Given the description of an element on the screen output the (x, y) to click on. 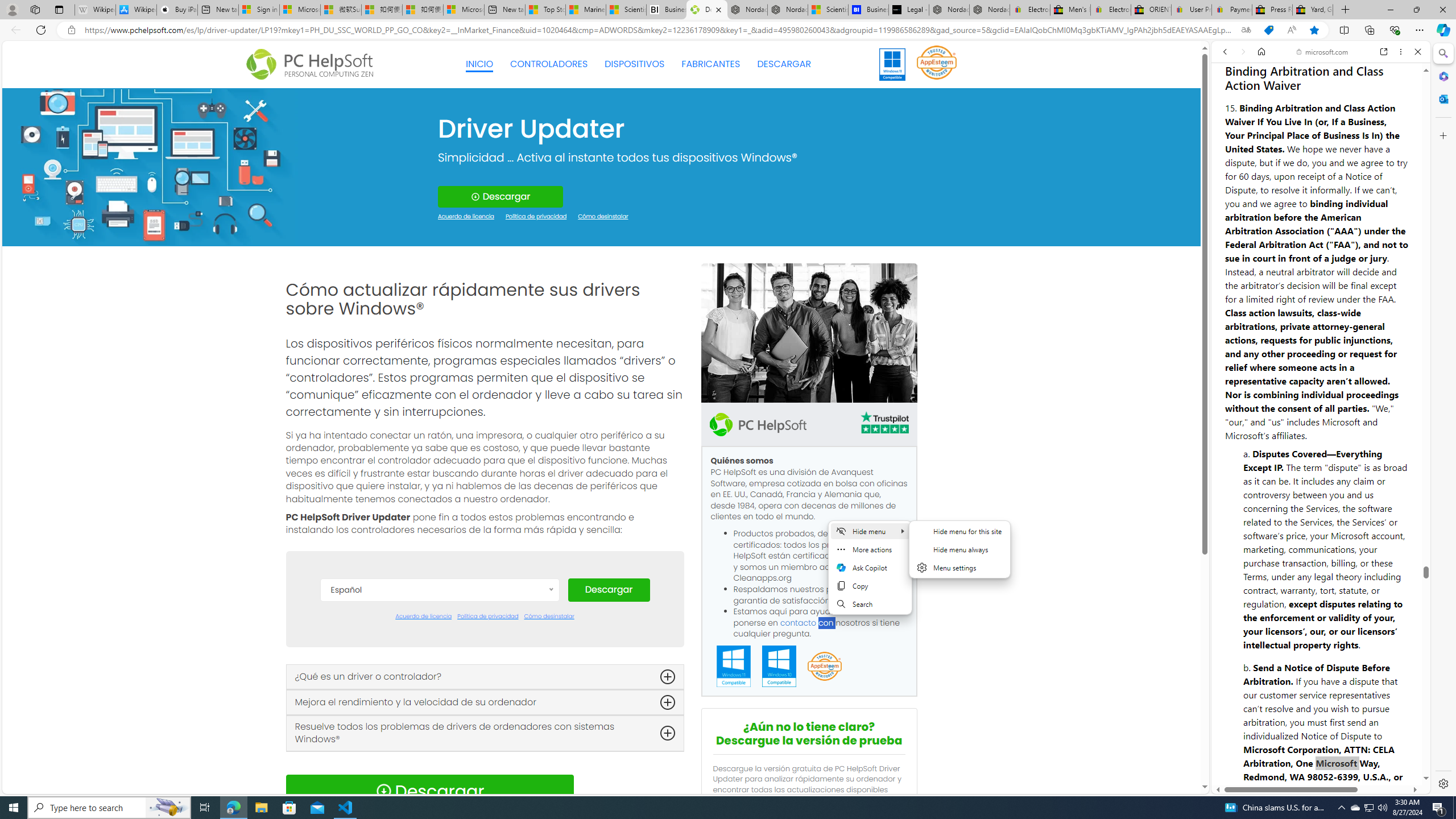
Logo Personal Computing (313, 64)
Top Stories - MSN (544, 9)
This site scope (1259, 102)
Feedback (1384, 751)
Nordace - Summer Adventures 2024 (949, 9)
Buy iPad - Apple (176, 9)
CONTROLADORES (548, 64)
Advertise (1335, 751)
Italiano (439, 746)
Hide menu (959, 556)
